Given the description of an element on the screen output the (x, y) to click on. 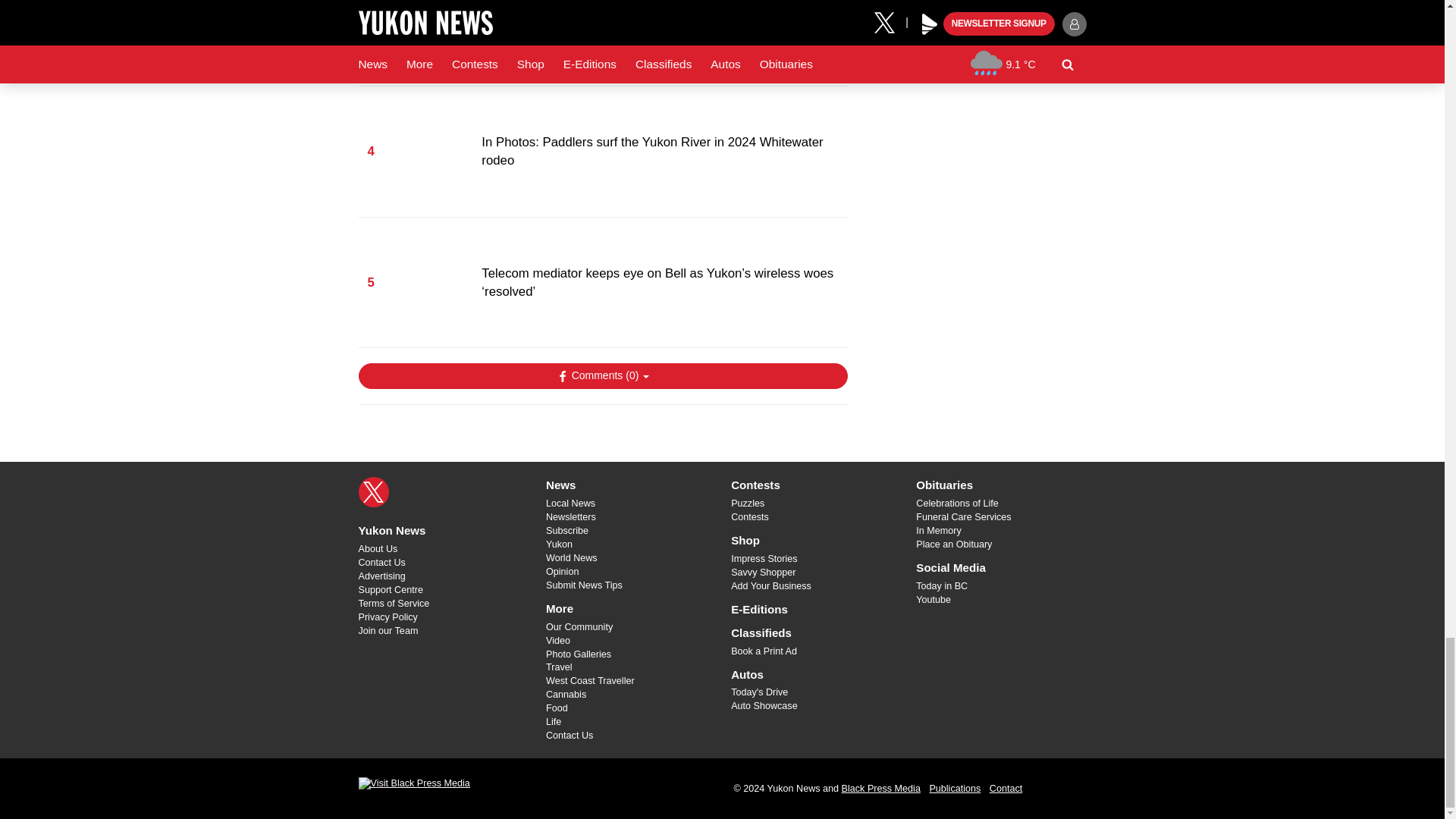
Show Comments (602, 376)
X (373, 491)
